Given the description of an element on the screen output the (x, y) to click on. 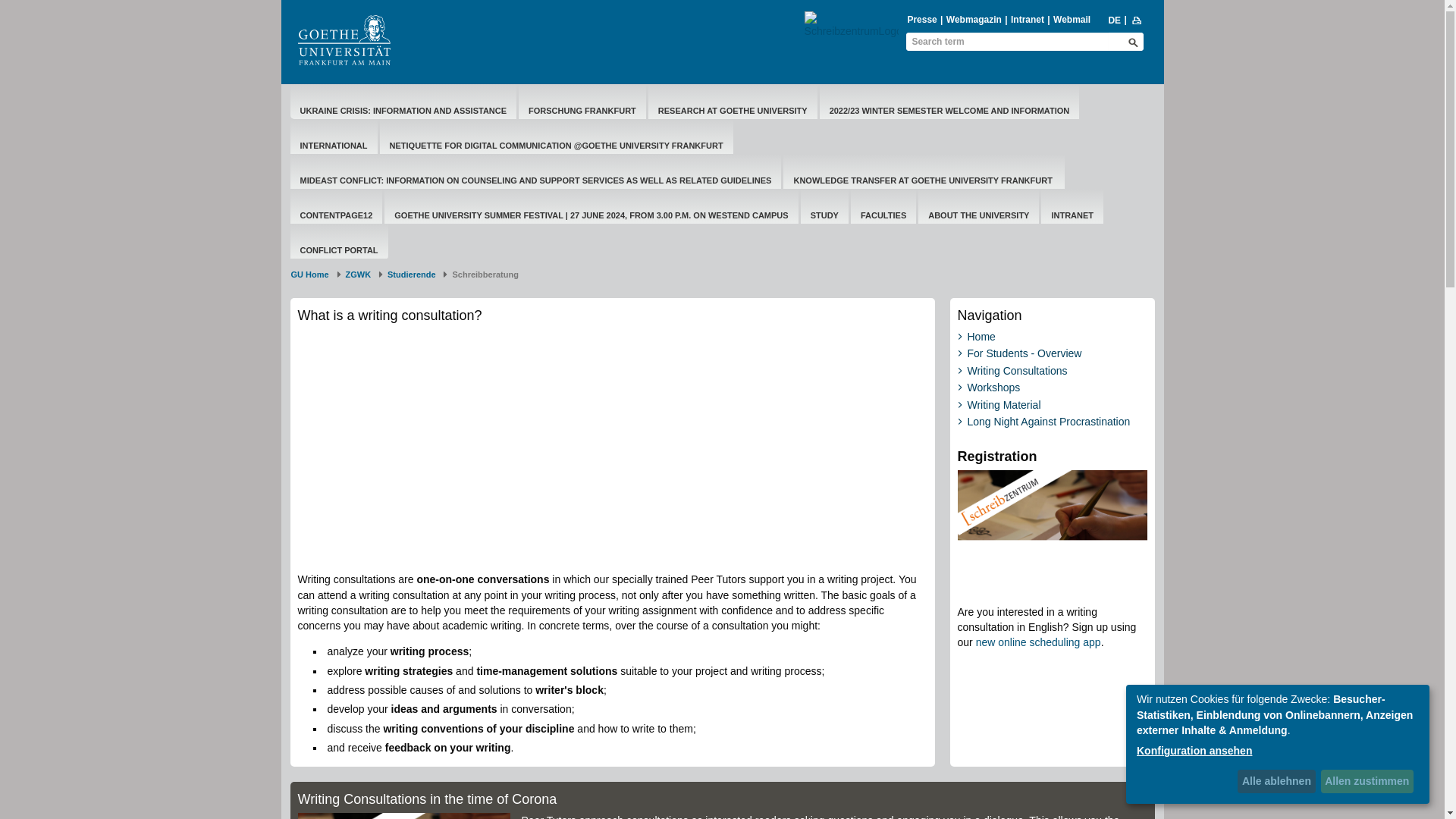
INTERNATIONAL (334, 145)
DE (1113, 20)
Intranet (1027, 19)
Webmail (1071, 19)
print page (1136, 20)
Presse (921, 19)
Webmagazin (973, 19)
FORSCHUNG FRANKFURT (582, 110)
zur deutschen Seite (1113, 20)
Start Search (1132, 42)
UKRAINE CRISIS: INFORMATION AND ASSISTANCE (403, 110)
RESEARCH AT GOETHE UNIVERSITY (732, 110)
KNOWLEDGE TRANSFER AT GOETHE UNIVERSITY FRANKFURT  (923, 180)
